Given the description of an element on the screen output the (x, y) to click on. 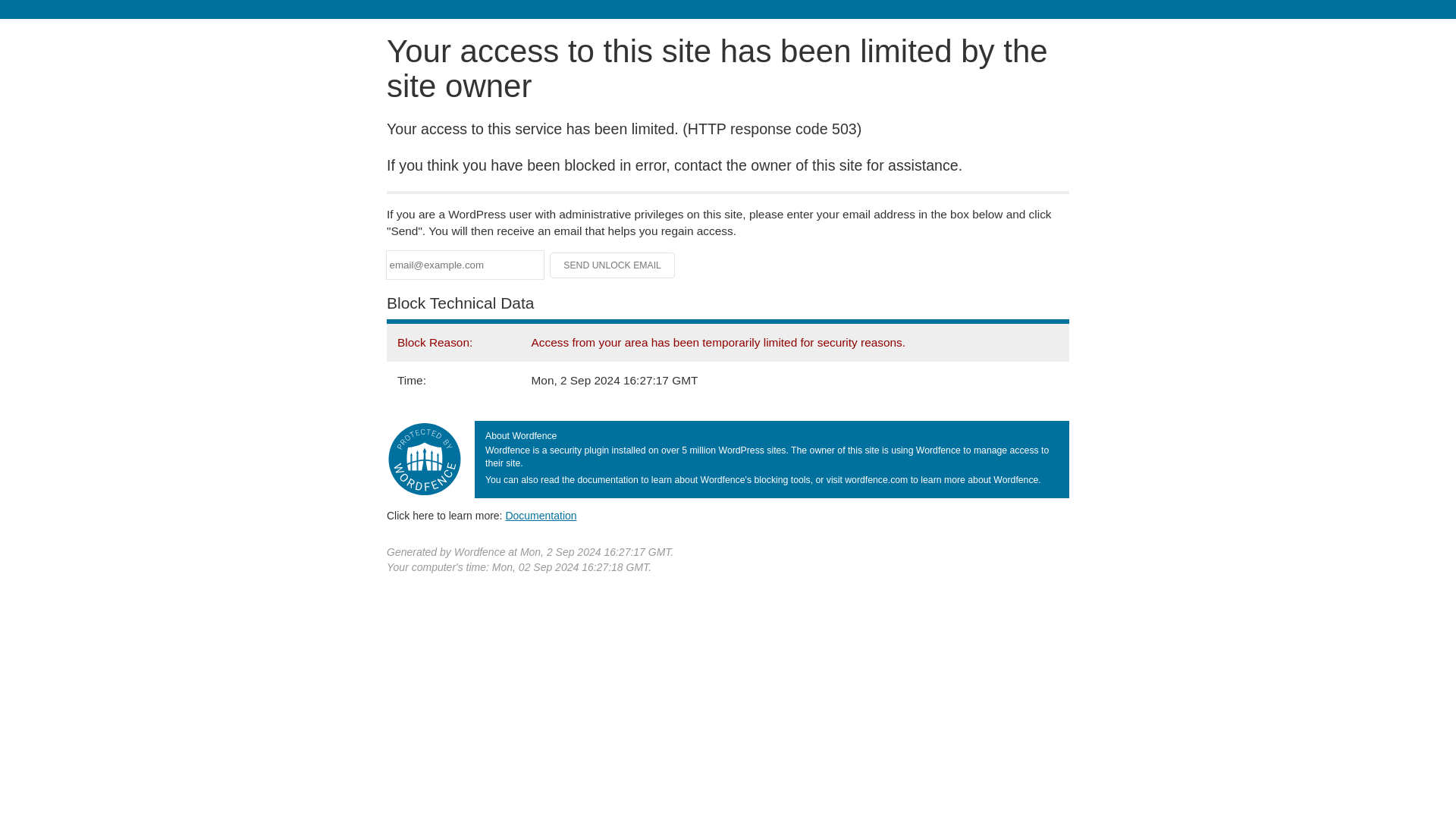
Send Unlock Email (612, 265)
Documentation (540, 515)
Send Unlock Email (612, 265)
